Given the description of an element on the screen output the (x, y) to click on. 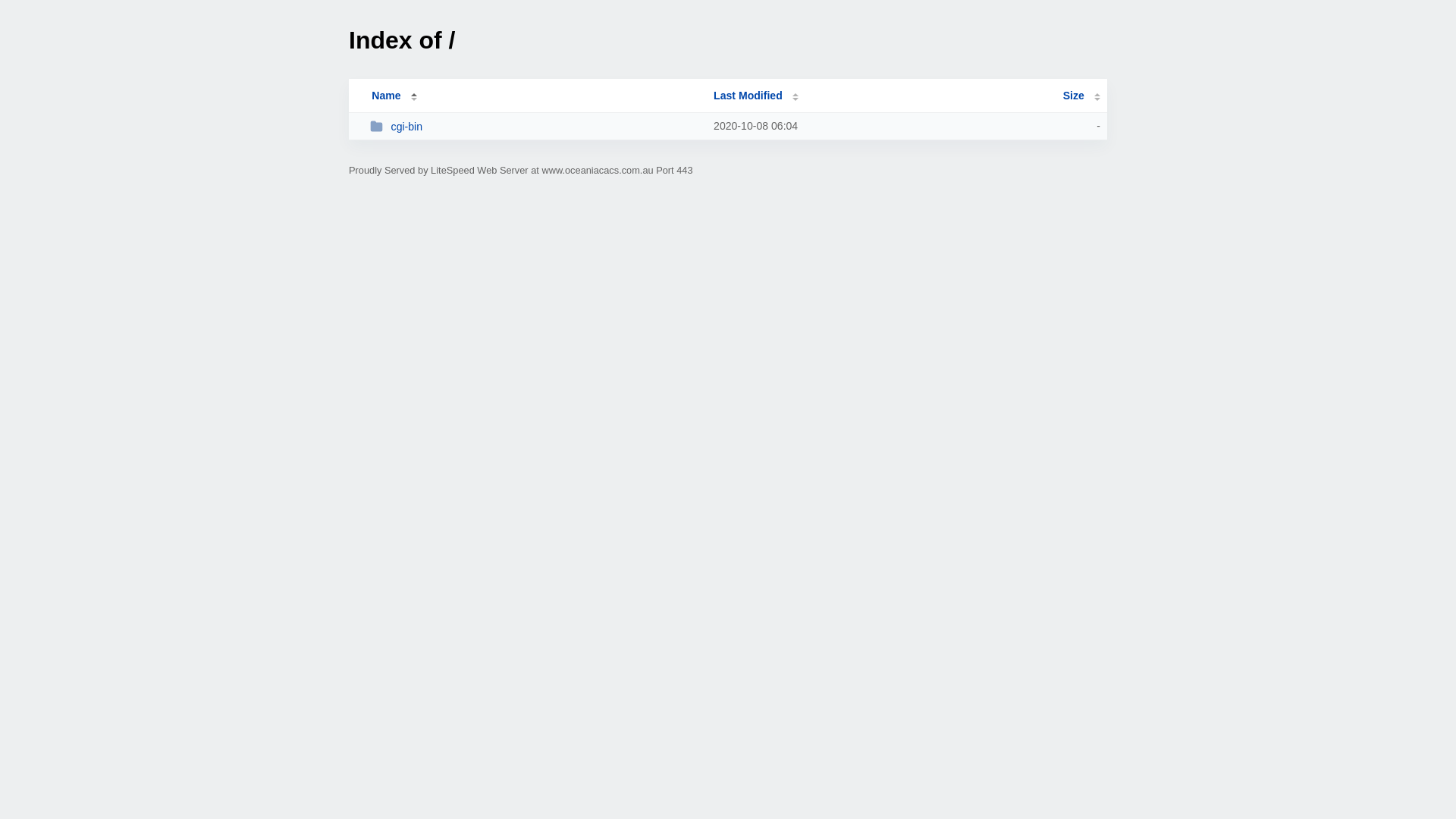
Size Element type: text (1081, 95)
Name Element type: text (385, 95)
Last Modified Element type: text (755, 95)
cgi-bin Element type: text (534, 125)
